Given the description of an element on the screen output the (x, y) to click on. 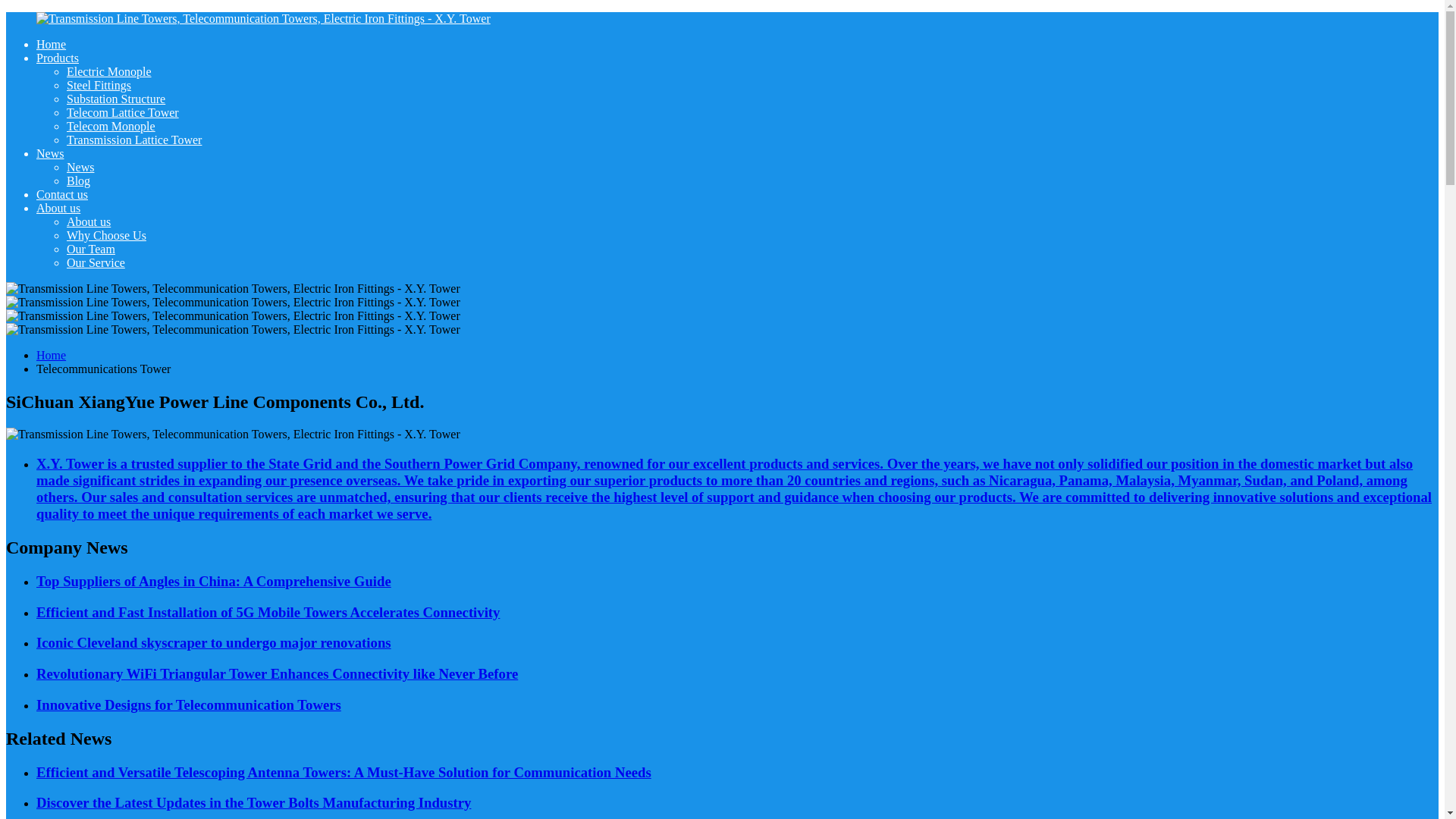
Our Service (95, 262)
Substation Structure (115, 98)
Why Choose Us (106, 235)
Our Team (90, 248)
Contact us (61, 194)
Home (50, 354)
Electric Monople (108, 71)
Products (57, 57)
Steel Fittings (98, 84)
Telecom Lattice Tower (122, 112)
News (80, 166)
Blog (78, 180)
About us (58, 207)
Transmission Lattice Tower (134, 139)
Home (50, 43)
